Given the description of an element on the screen output the (x, y) to click on. 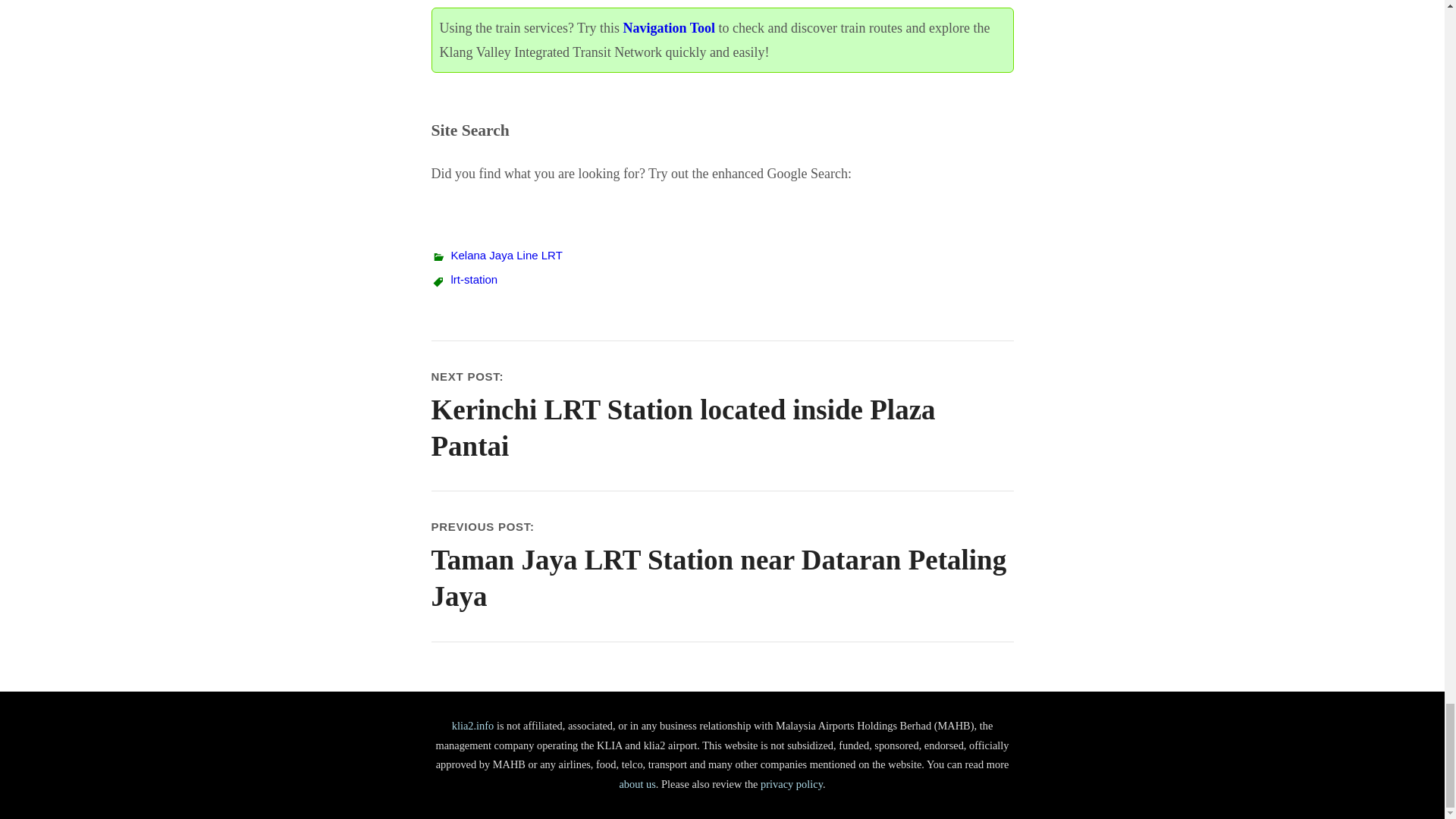
privacy policy (791, 784)
about us (636, 784)
Kelana Jaya Line LRT (505, 254)
Navigation Tool (668, 28)
lrt-station (473, 278)
klia2.info (473, 725)
